Given the description of an element on the screen output the (x, y) to click on. 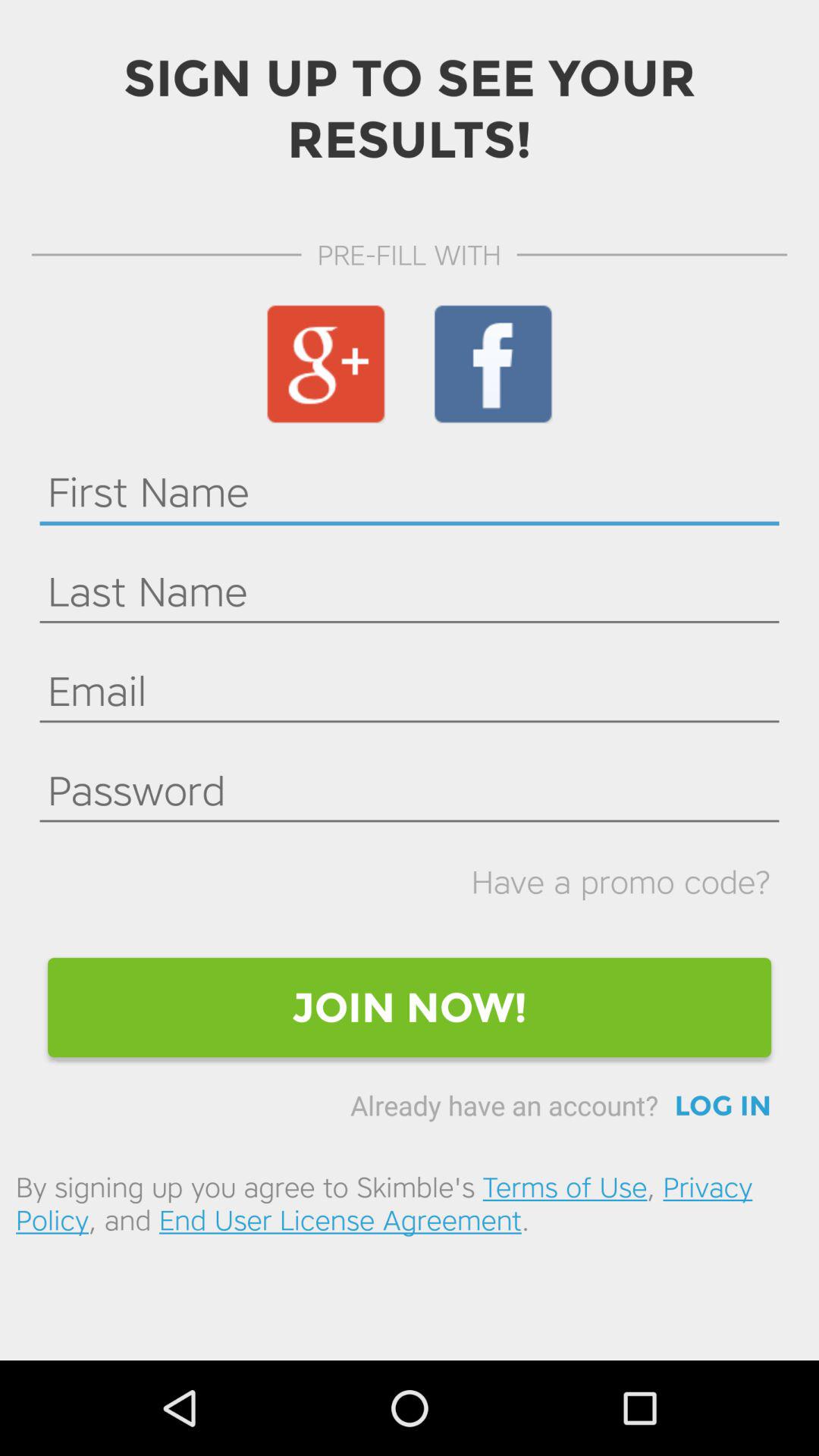
jump to by signing up (409, 1203)
